Given the description of an element on the screen output the (x, y) to click on. 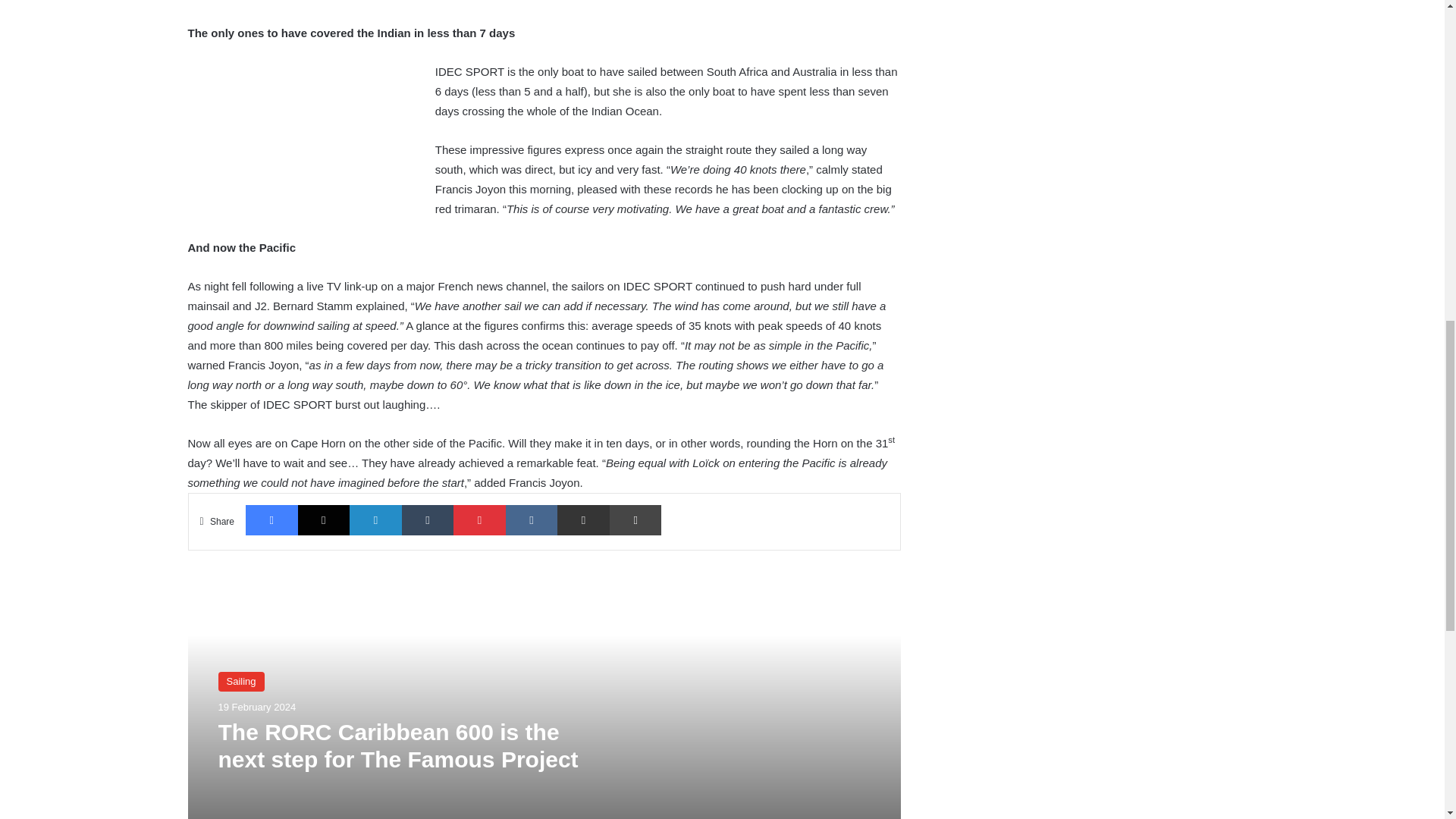
Pinterest (478, 520)
Facebook (272, 520)
X (324, 520)
Share via Email (583, 520)
Print (636, 520)
LinkedIn (375, 520)
VKontakte (531, 520)
Tumblr (427, 520)
